Given the description of an element on the screen output the (x, y) to click on. 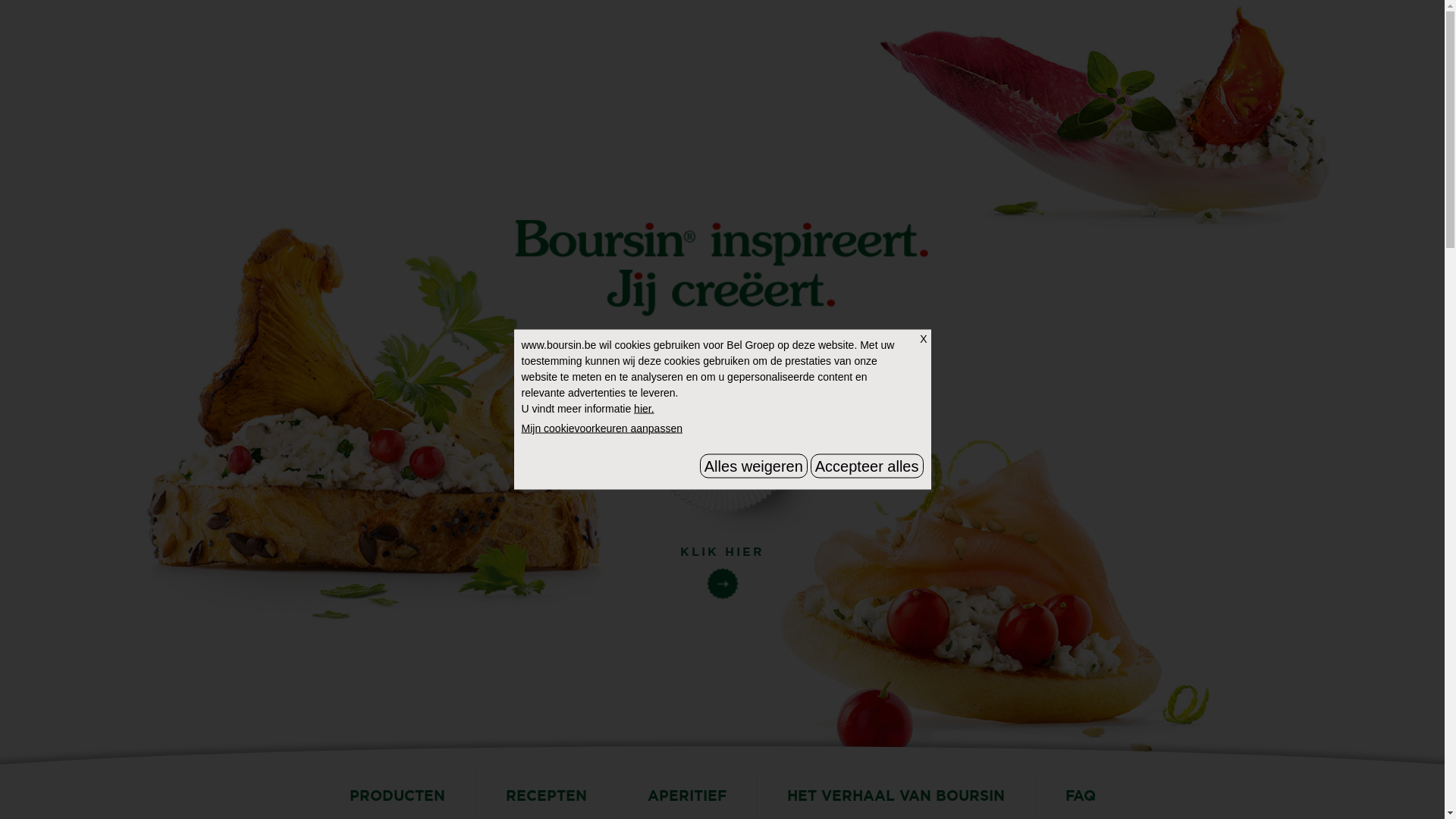
PRODUCTEN Element type: text (396, 795)
RECEPTEN Element type: text (545, 795)
KLIK HIER Element type: text (722, 563)
APERITIEF Element type: text (686, 795)
HET VERHAAL VAN BOURSIN Element type: text (895, 795)
hier. Element type: text (643, 407)
FAQ Element type: text (1079, 795)
